Given the description of an element on the screen output the (x, y) to click on. 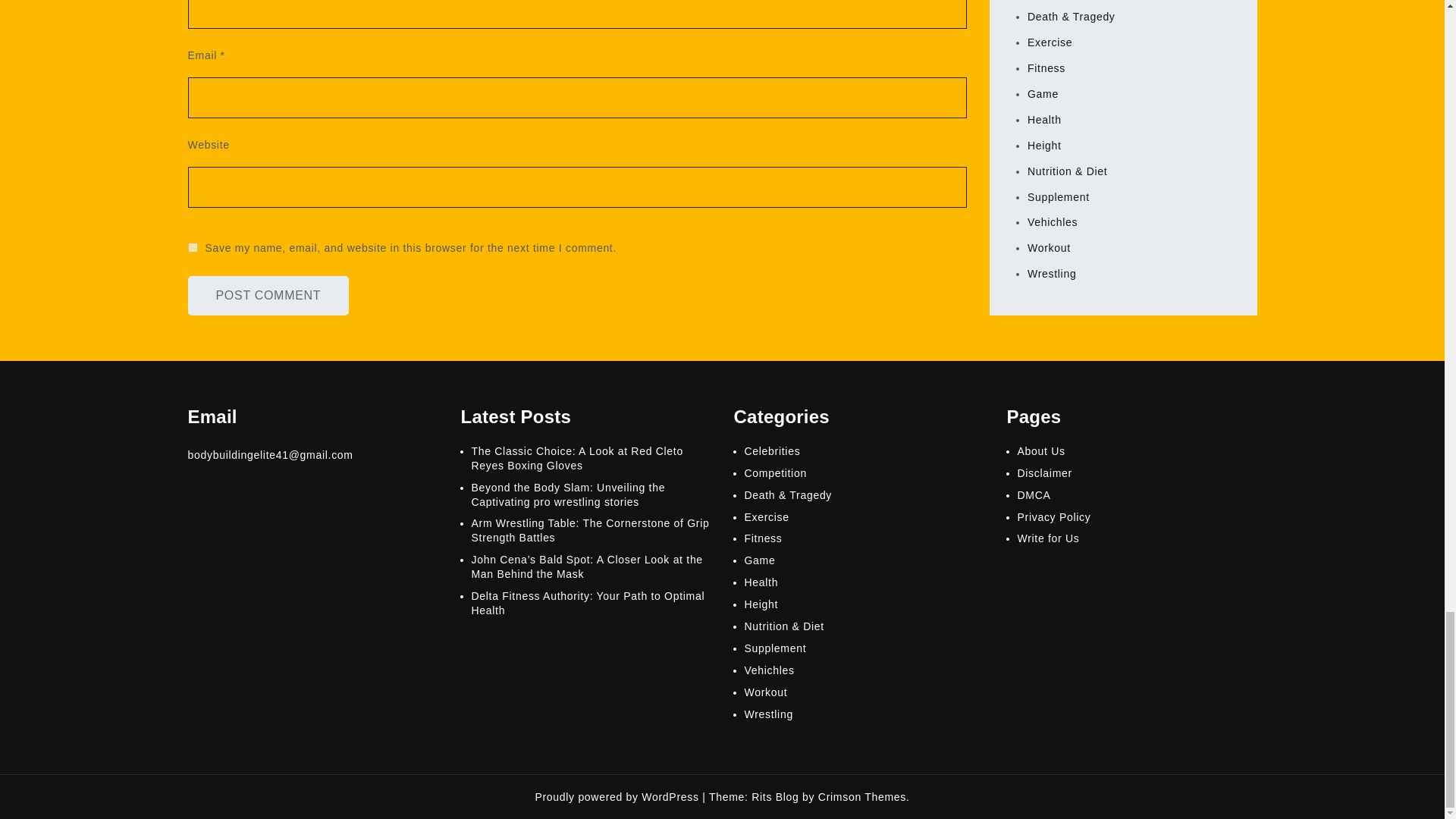
Post Comment (268, 295)
yes (192, 247)
Post Comment (268, 295)
